Given the description of an element on the screen output the (x, y) to click on. 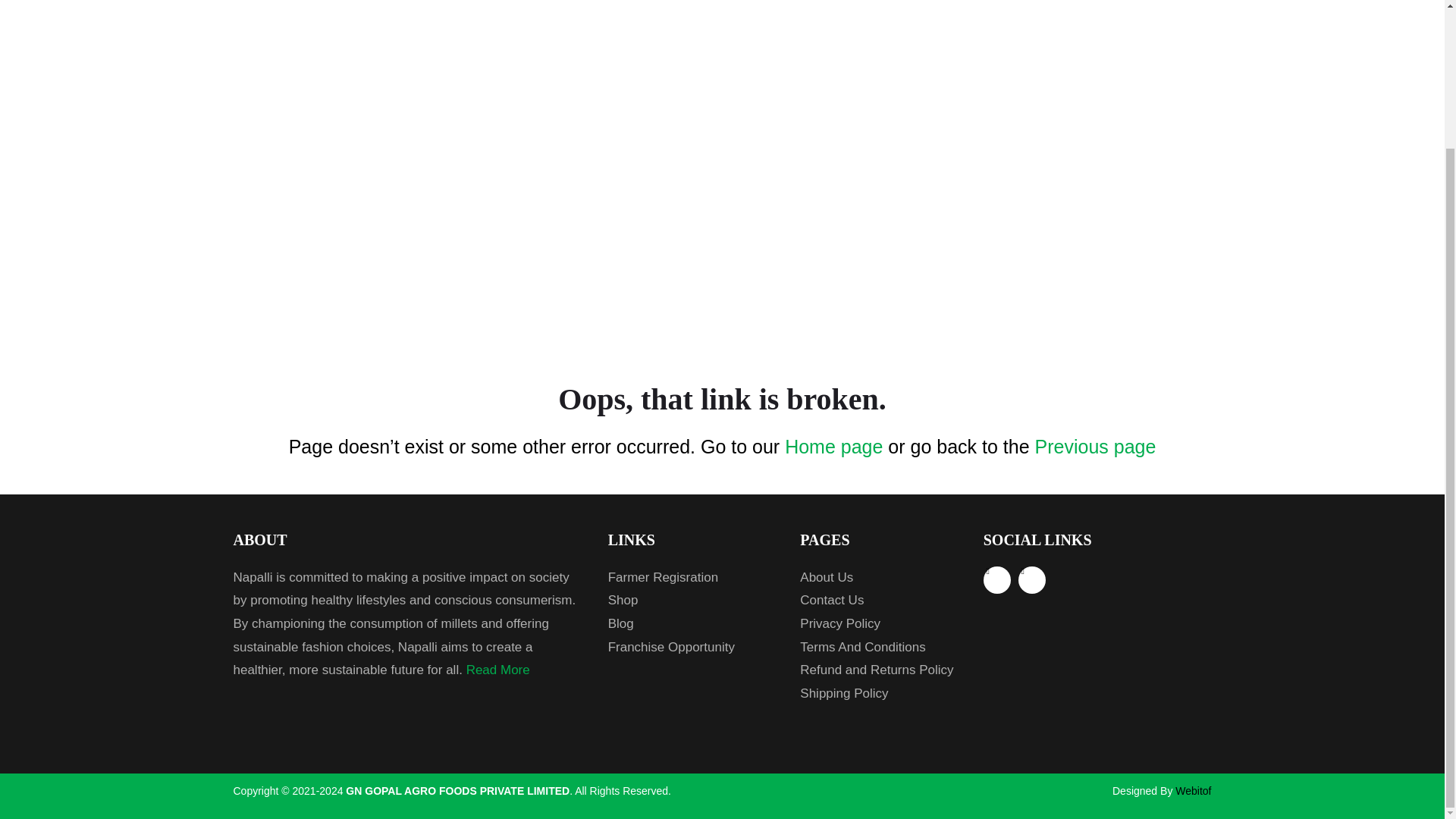
About Us (879, 577)
Read More (497, 669)
Shipping Policy (879, 693)
Shop (692, 600)
Refund and Returns Policy (879, 670)
Terms And Conditions (879, 648)
Privacy Policy (879, 624)
Blog (692, 624)
Farmer Regisration (692, 577)
Previous page (1095, 446)
